Given the description of an element on the screen output the (x, y) to click on. 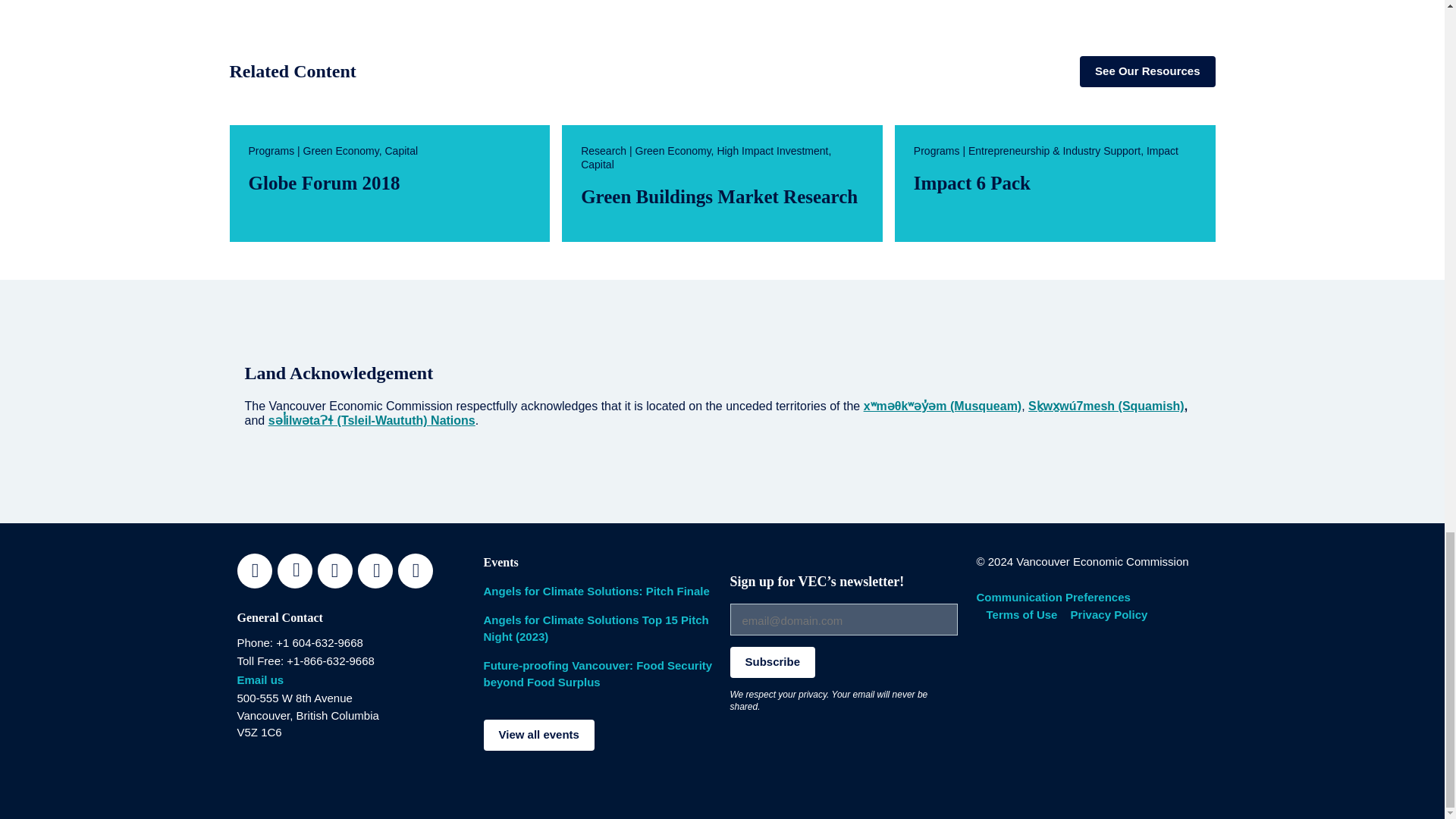
Subscribe (772, 662)
